Given the description of an element on the screen output the (x, y) to click on. 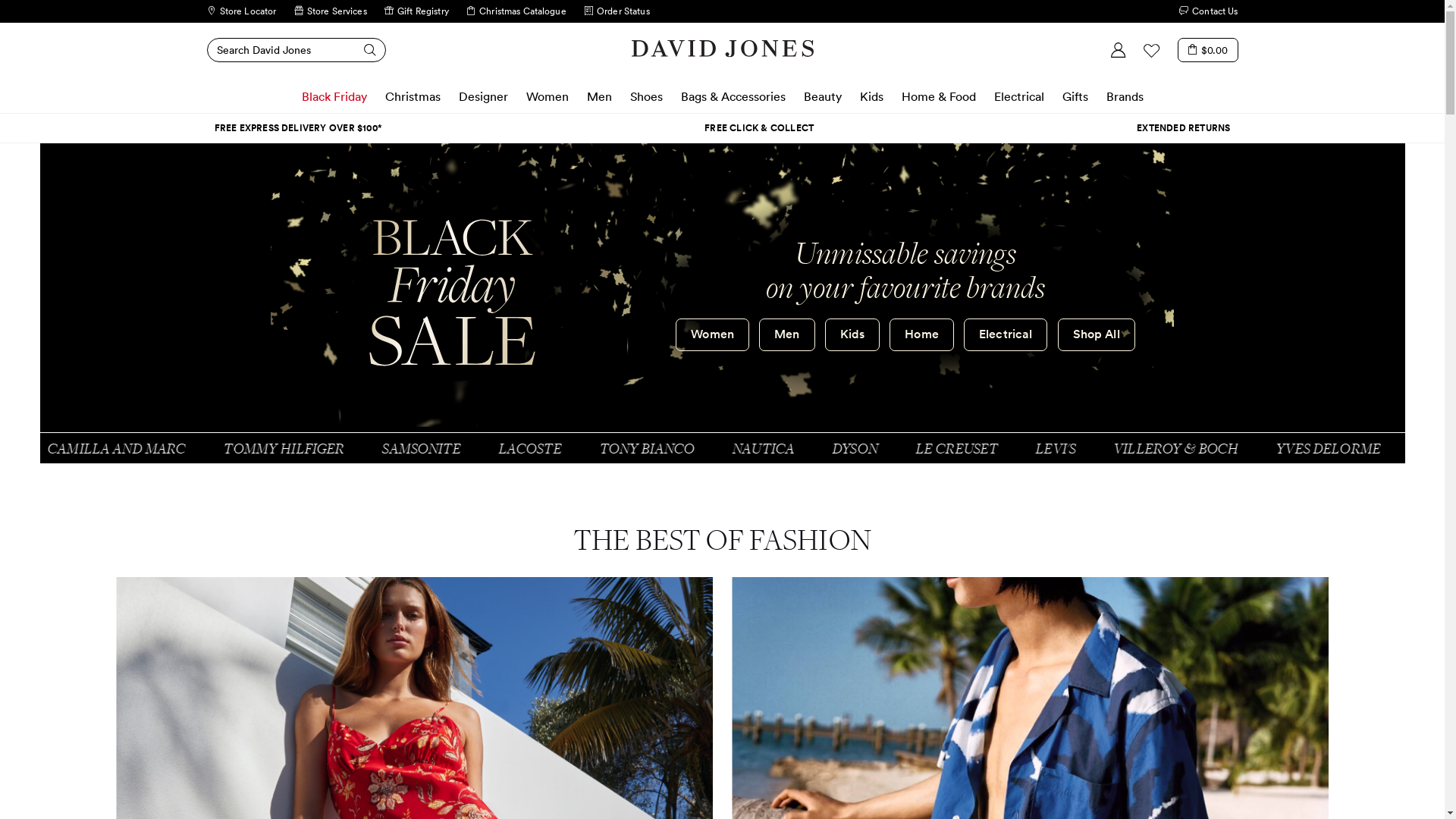
Black Friday Element type: text (334, 96)
         Element type: text (676, 11)
FREE EXPRESS DELIVERY OVER $100* Element type: text (296, 127)
Kids Element type: text (871, 96)
Brands Element type: text (1123, 96)
FREE CLICK & COLLECT Element type: text (758, 127)
Men Element type: text (599, 96)
Electrical Element type: text (1018, 96)
Store Locator Element type: text (241, 11)
Bags & Accessories Element type: text (732, 96)
EXTENDED RETURNS Element type: text (1183, 127)
Store Services Element type: text (330, 11)
Sign in Element type: hover (1118, 49)
Christmas Catalogue Element type: text (516, 11)
Beauty Element type: text (822, 96)
wishlist Element type: hover (1151, 49)
Contact Us Element type: text (1208, 10)
Electrical Element type: text (1005, 334)
Designer Element type: text (482, 96)
Kids Element type: text (852, 334)
Search Now Element type: hover (361, 49)
Home Element type: text (921, 334)
Shop All Element type: text (1096, 334)
Women Element type: text (547, 96)
Women Element type: text (712, 334)
Black FRIDAY Sale Element type: hover (452, 292)
Men Element type: text (786, 334)
Order Status Element type: text (616, 11)
$0.00 Element type: text (1207, 49)
Gift Registry Element type: text (416, 11)
Home & Food Element type: text (937, 96)
Christmas Element type: text (412, 96)
Shoes Element type: text (645, 96)
Gifts Element type: text (1074, 96)
